Given the description of an element on the screen output the (x, y) to click on. 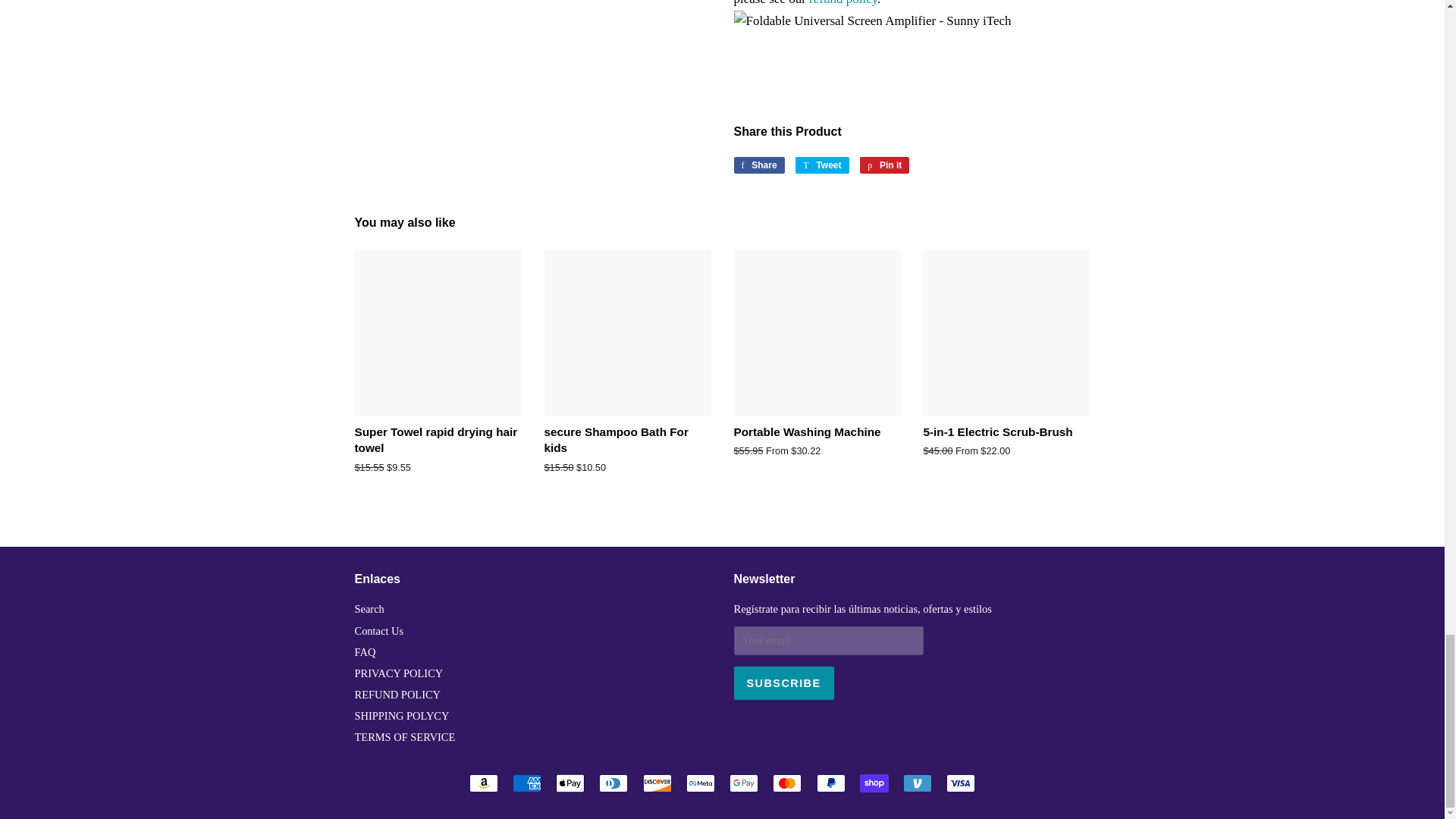
American Express (526, 782)
Shop Pay (874, 782)
Apple Pay (570, 782)
Amazon (482, 782)
Discover (657, 782)
Venmo (916, 782)
Tweet on Twitter (821, 165)
Google Pay (743, 782)
refund policy (843, 2)
PayPal (830, 782)
